Given the description of an element on the screen output the (x, y) to click on. 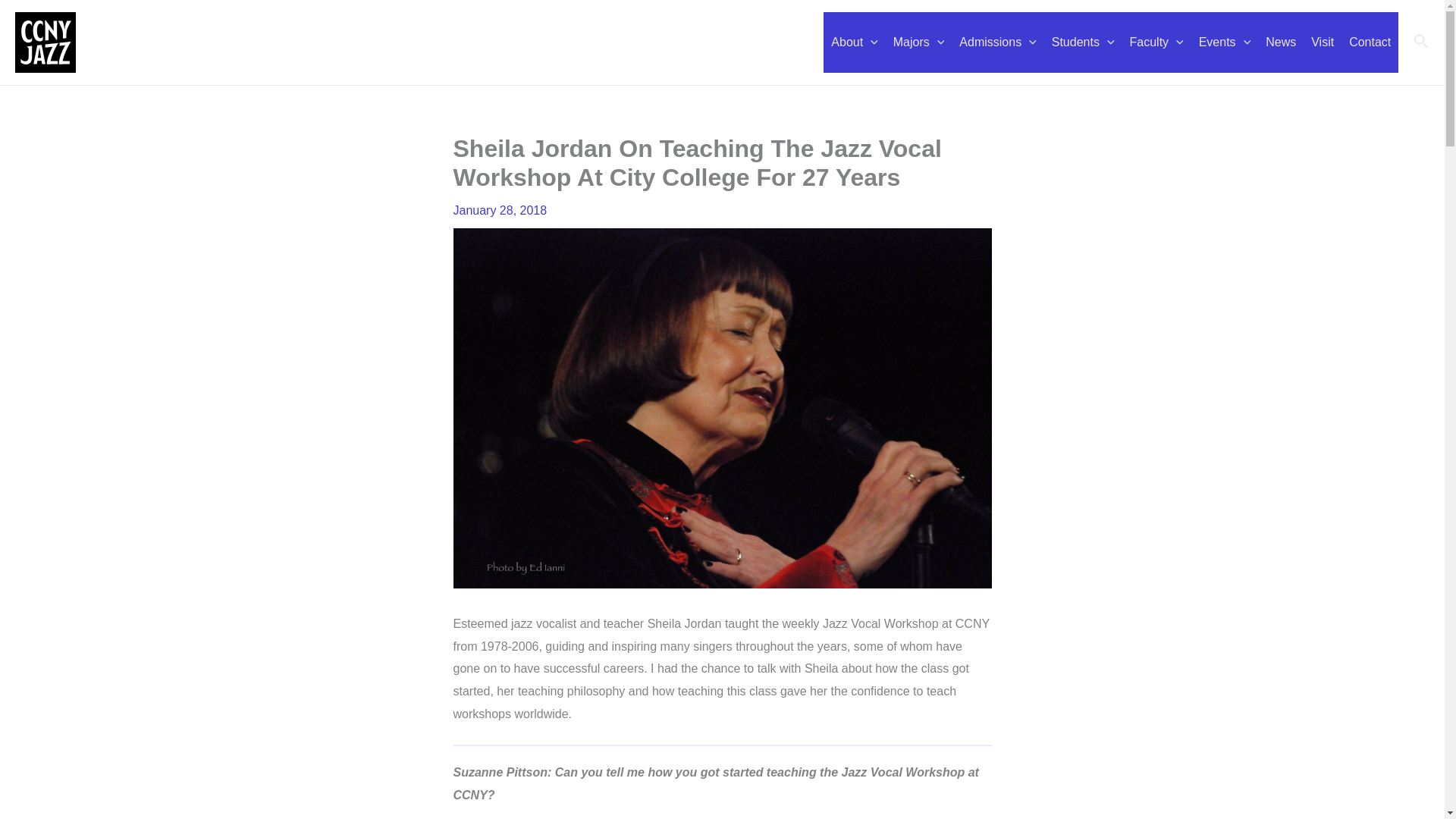
Admissions (997, 42)
About (854, 42)
Majors (918, 42)
Students (1082, 42)
Events (1225, 42)
Faculty (1156, 42)
Contact (1368, 42)
